Given the description of an element on the screen output the (x, y) to click on. 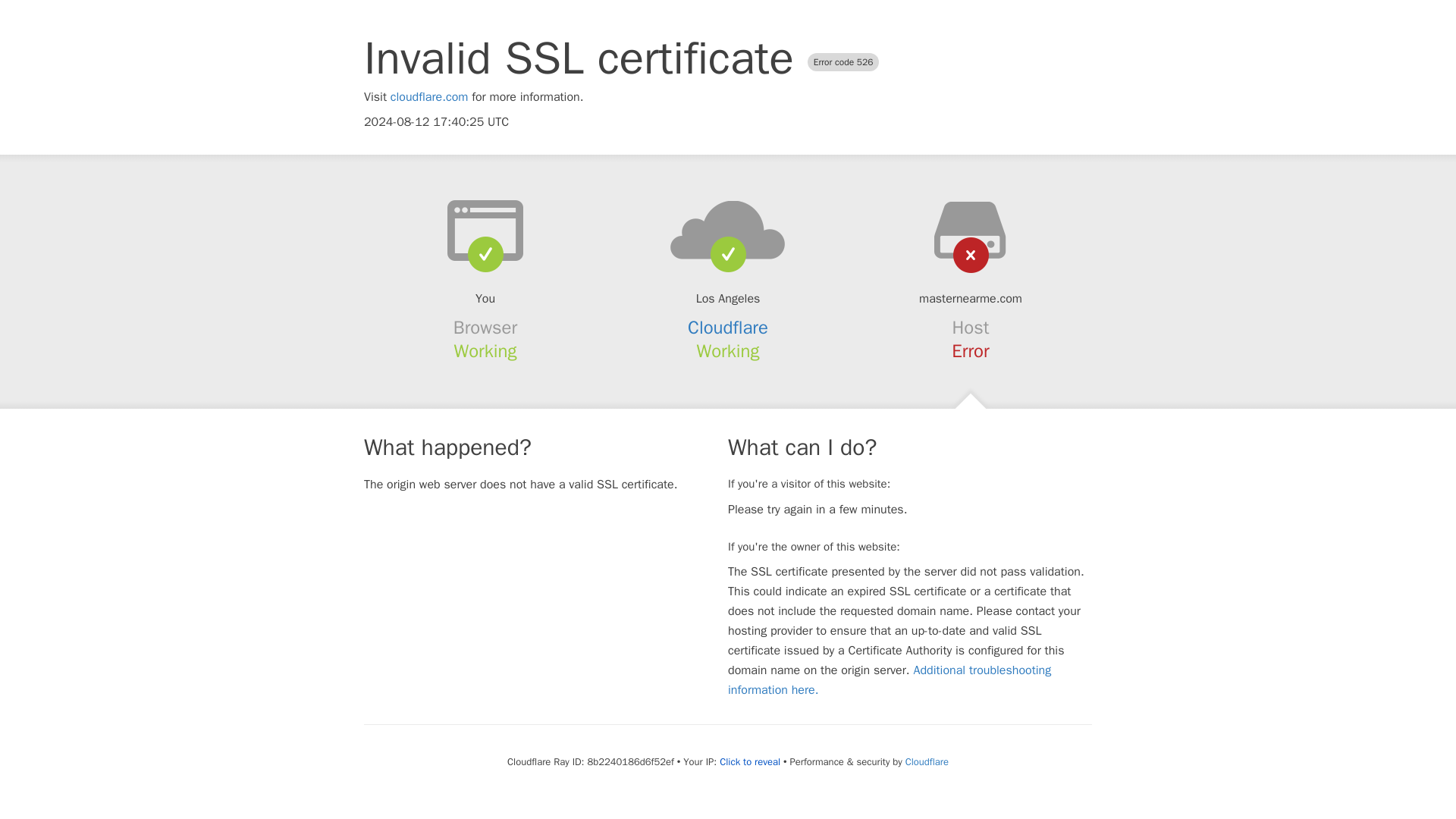
cloudflare.com (429, 96)
Additional troubleshooting information here. (889, 679)
Cloudflare (927, 761)
Click to reveal (749, 762)
Cloudflare (727, 327)
